Given the description of an element on the screen output the (x, y) to click on. 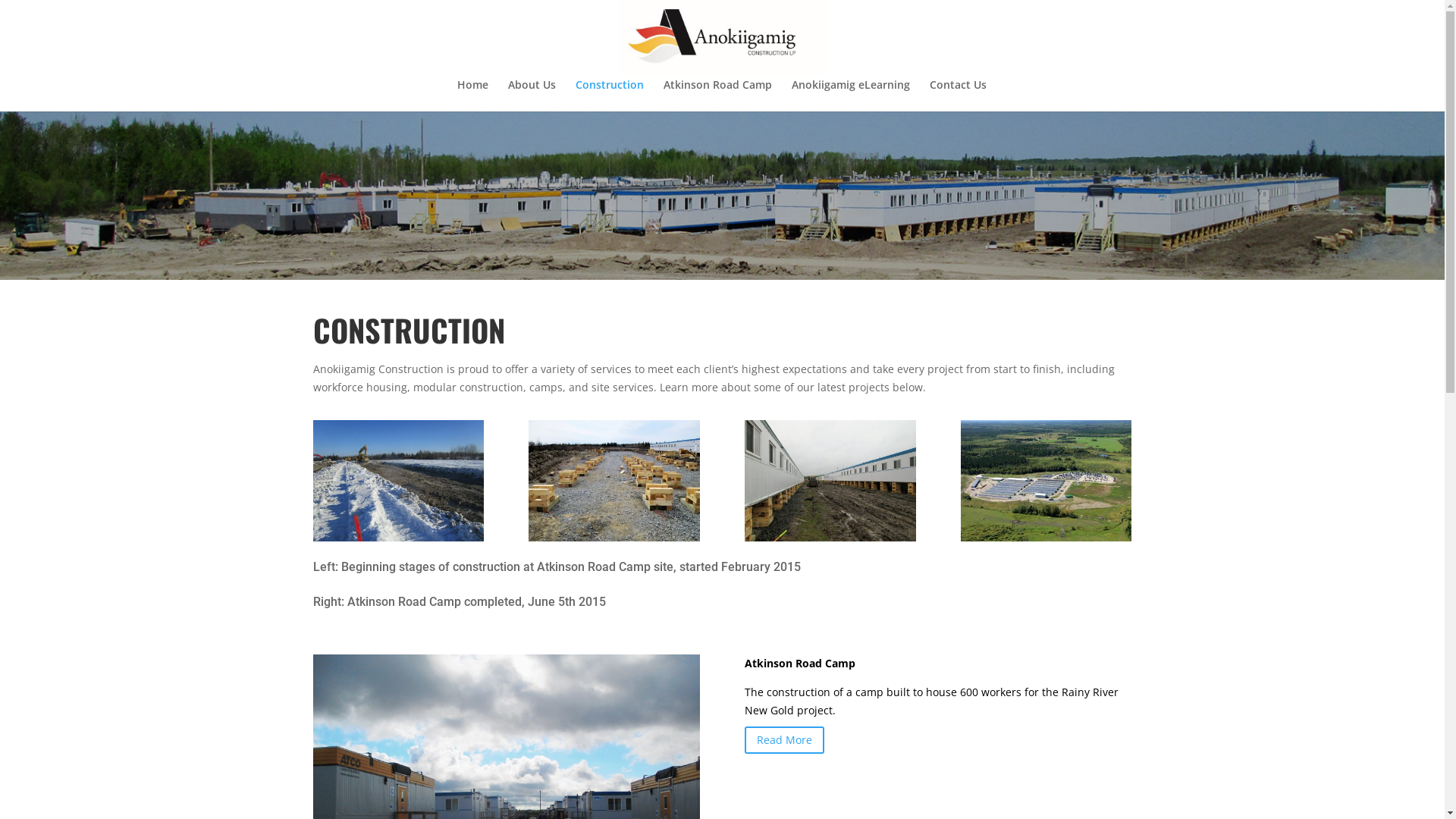
2or33 Element type: hover (613, 537)
Anokiigamig eLearning Element type: text (850, 95)
About Us Element type: text (531, 95)
three-scaled Element type: hover (829, 537)
Atkinson Road Camp Element type: text (716, 95)
Contact Us Element type: text (957, 95)
IMG_7087 Element type: hover (1045, 537)
Construction Element type: text (608, 95)
one Element type: hover (397, 537)
Home Element type: text (471, 95)
Read More Element type: text (784, 739)
